Given the description of an element on the screen output the (x, y) to click on. 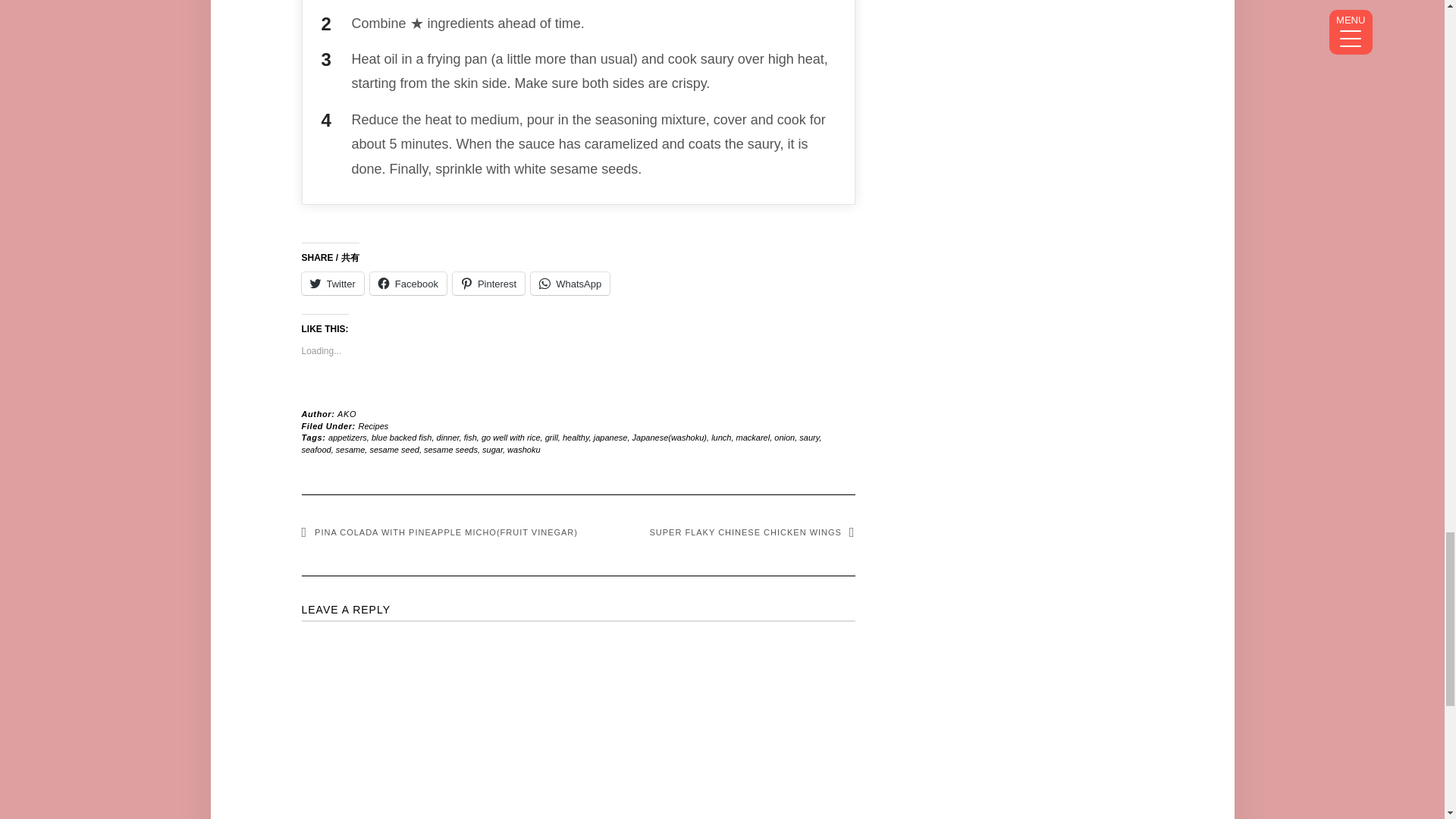
Click to share on Twitter (332, 282)
Comment Form (578, 719)
Click to share on Pinterest (488, 282)
Click to share on WhatsApp (570, 282)
Click to share on Facebook (407, 282)
Posts by AKO (346, 413)
